Given the description of an element on the screen output the (x, y) to click on. 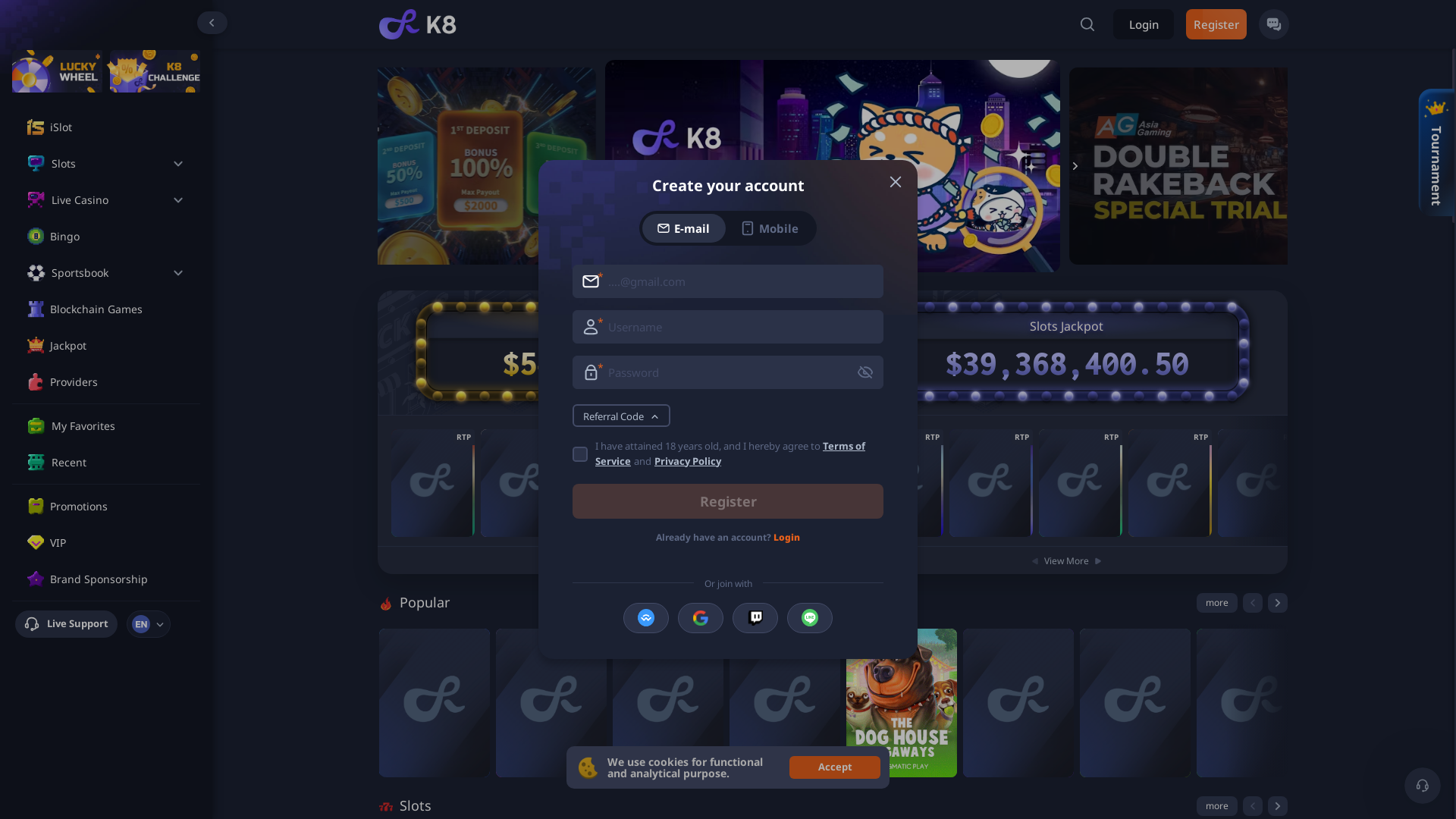
VIP Baccarat Element type: hover (432, 482)
The Dog House Megaways Element type: hover (901, 702)
Providers Element type: text (117, 382)
Register Element type: text (727, 500)
Moon Princess 100 Element type: hover (550, 702)
Jackpot Element type: text (117, 345)
Rich Wilde and the Tome of Madness Element type: hover (784, 702)
Drop'EM Element type: hover (1134, 702)
Promotions Element type: text (117, 506)
Allstar 7s Hold and Win Element type: hover (990, 482)
Sherwood Coins: Hold and Win Element type: hover (1080, 482)
VIP Element type: text (117, 542)
Accept Element type: text (834, 767)
next Element type: hover (1277, 602)
Bingo Element type: text (117, 236)
more Element type: text (1216, 602)
next Element type: hover (1277, 805)
Rise of Olympus 100 Element type: hover (667, 702)
Starlight Princess Element type: hover (434, 702)
iSlot Element type: text (117, 127)
Brand Sponsorship Element type: text (117, 579)
Register Element type: text (1216, 24)
8 Balls of Fire Element type: hover (1259, 482)
xWays Hoarder xSplit DX1 Element type: hover (1251, 702)
Baccarat Element type: hover (522, 482)
more Element type: text (1216, 805)
Login Element type: text (1143, 24)
Mobile Element type: text (769, 227)
Crystal Scarabs Element type: hover (901, 482)
Blockchain Games Element type: text (117, 309)
E-mail Element type: text (683, 227)
previous Element type: hover (1251, 602)
Sweet Bonanza Xmas Element type: hover (1018, 702)
African Spirit Sticky Wilds Element type: hover (1169, 482)
previous Element type: hover (1251, 805)
